Given the description of an element on the screen output the (x, y) to click on. 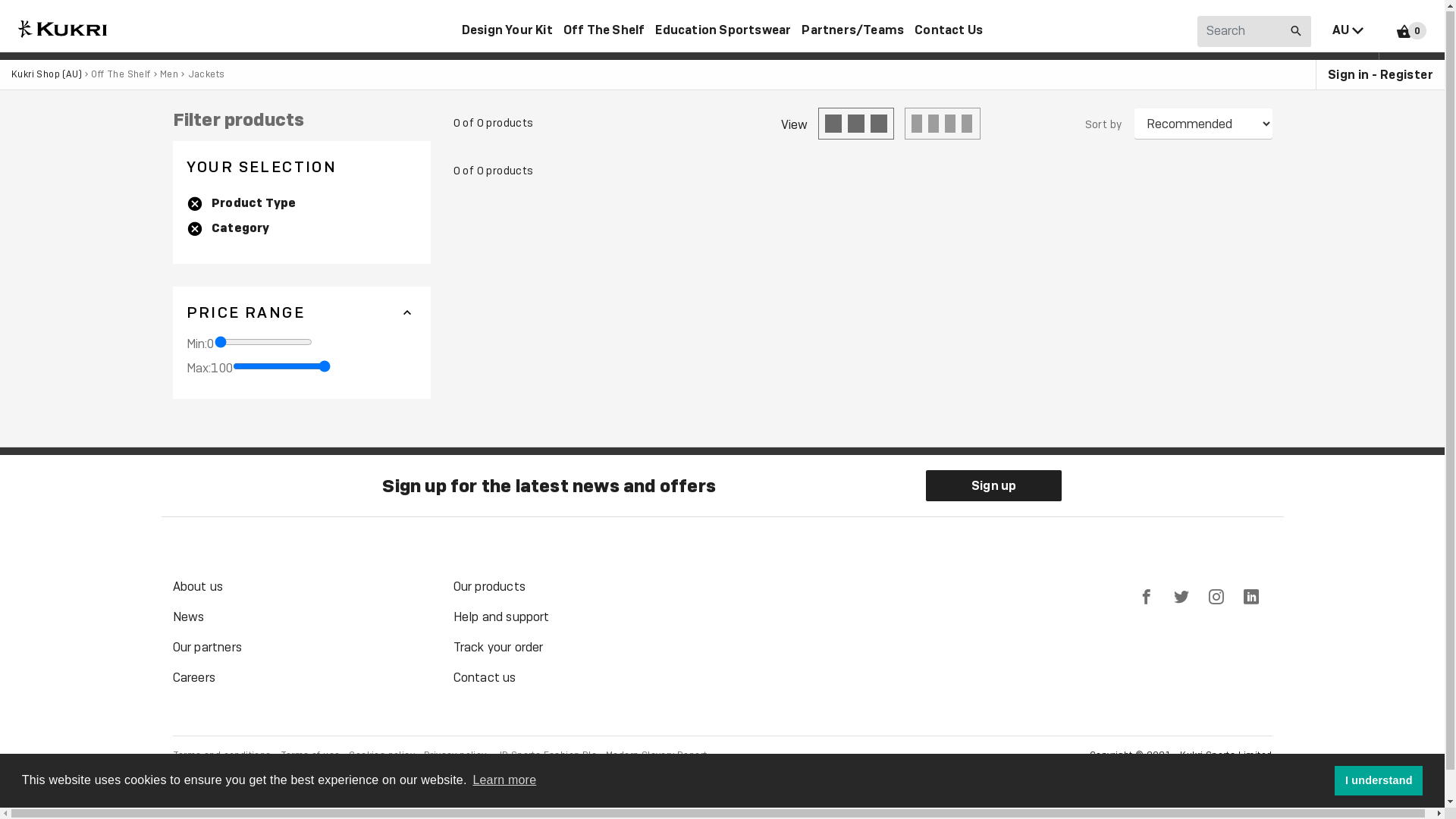
0 Element type: text (1402, 30)
Sign up Element type: text (993, 486)
Design Your Kit Element type: text (507, 30)
Contact us Element type: text (484, 678)
Education Sportswear Element type: text (722, 30)
Help and support Element type: text (501, 617)
Our products Element type: text (489, 587)
News Element type: text (188, 617)
Terms of use Element type: text (310, 755)
Partners/Teams Element type: text (852, 30)
Modern Slavery Report Element type: text (655, 755)
Our partners Element type: text (206, 647)
Careers Element type: text (193, 678)
Contact Us Element type: text (948, 30)
Sign in - Register Element type: text (1374, 75)
Cookies policy Element type: text (381, 755)
Terms and conditions Element type: text (221, 755)
Track your order Element type: text (498, 647)
Kukri Shop (AU) Element type: text (46, 74)
AU Element type: text (1355, 29)
PRICE RANGE Element type: text (301, 312)
Off The Shelf Element type: text (604, 30)
About us Element type: text (197, 587)
Kukri Shop (AU) Element type: text (61, 28)
Privacy policy Element type: text (454, 755)
I understand Element type: text (1378, 780)
Learn more Element type: text (504, 780)
JD Sports Fashion Plc Element type: text (545, 755)
